Given the description of an element on the screen output the (x, y) to click on. 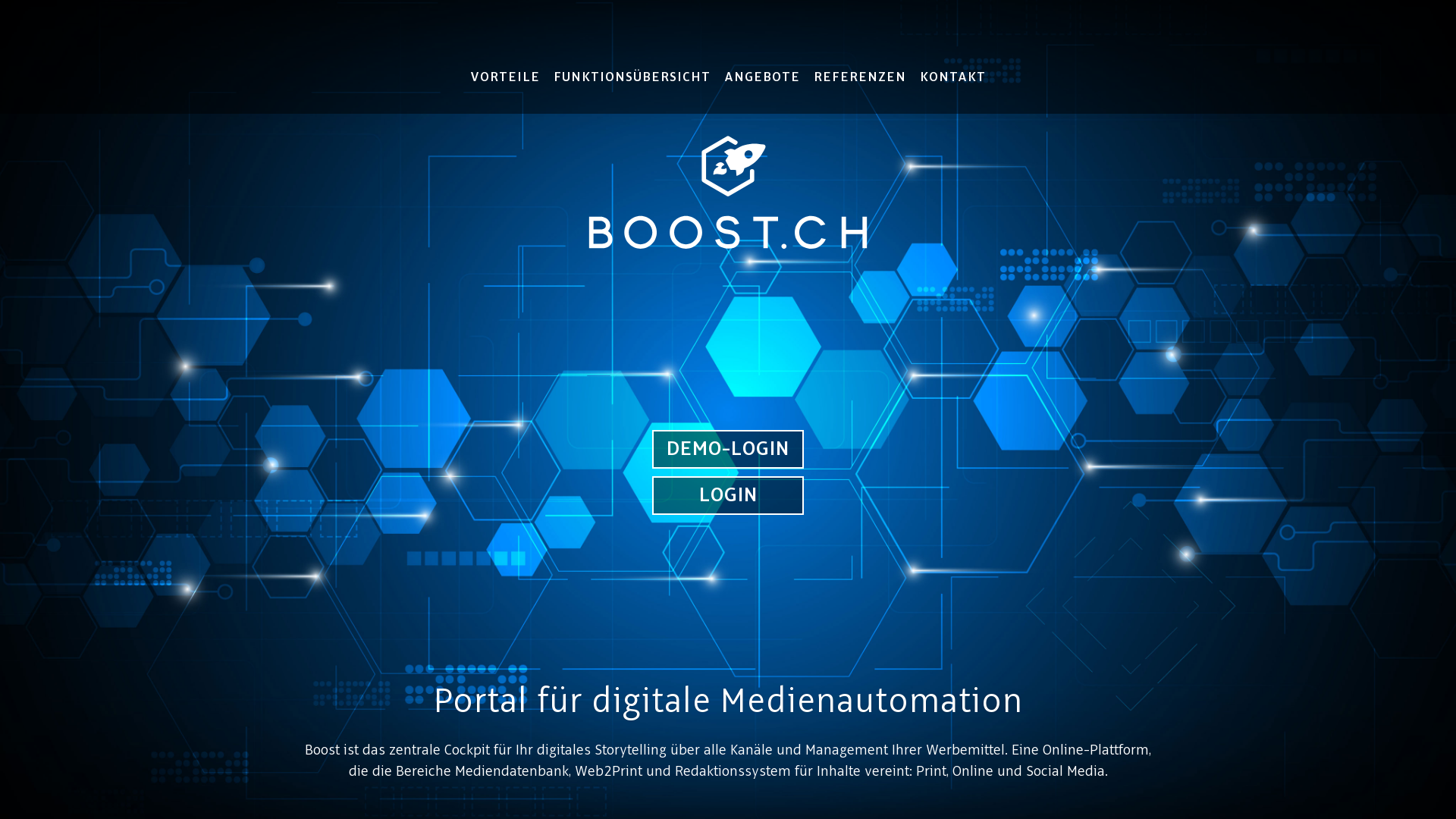
DEMO-LOGIN Element type: text (727, 448)
KONTAKT Element type: text (952, 61)
LOGIN Element type: text (727, 495)
VORTEILE Element type: text (504, 61)
ANGEBOTE Element type: text (762, 61)
REFERENZEN Element type: text (859, 61)
Startseite: boost.ch Element type: hover (727, 188)
